Given the description of an element on the screen output the (x, y) to click on. 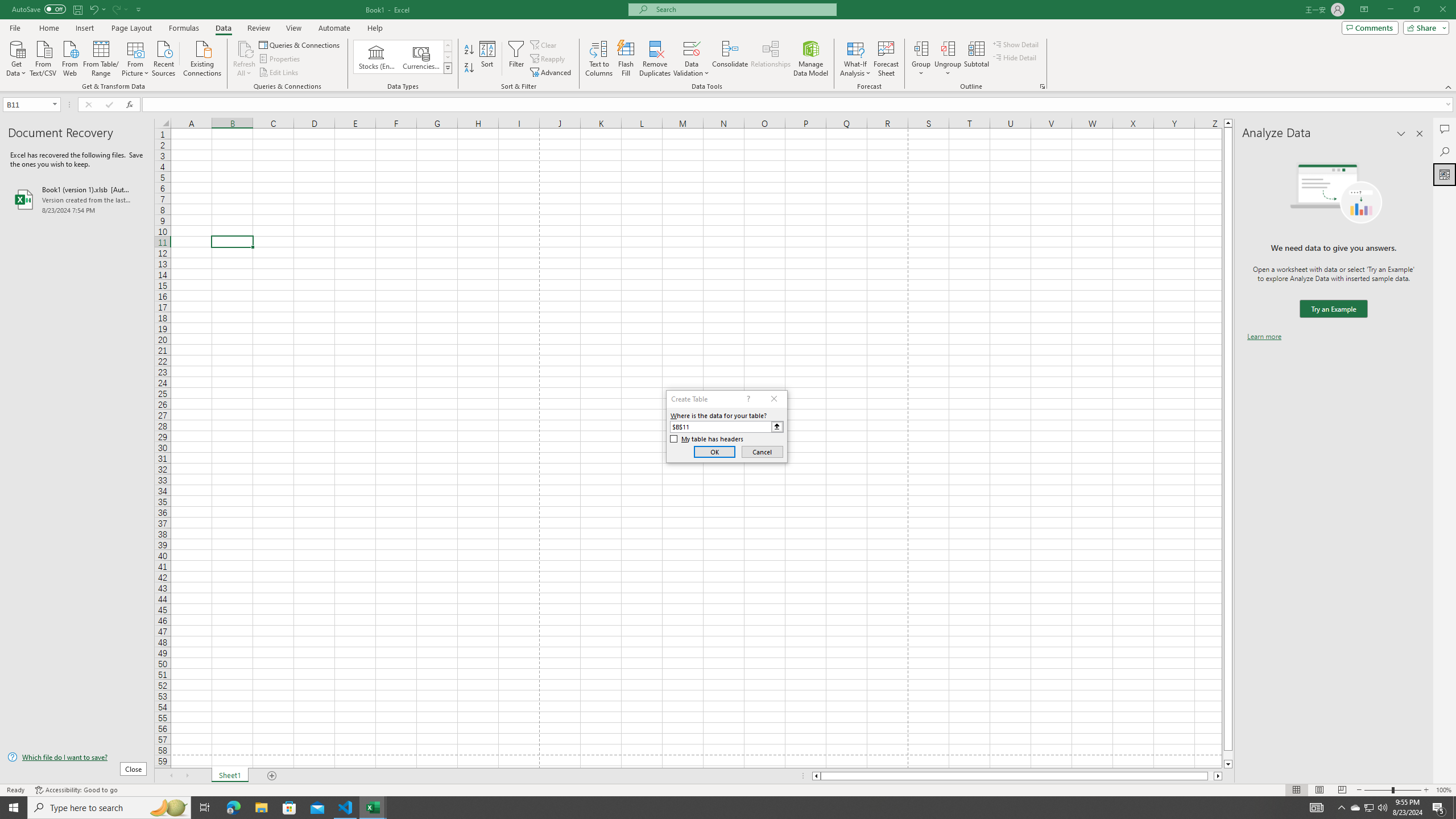
Queries & Connections (300, 44)
Collapse the Ribbon (1448, 86)
Analyze Data (1444, 173)
Insert (83, 28)
Name Box (30, 104)
Row Down (448, 56)
Comments (1444, 128)
Get Data (16, 57)
Comments (1369, 27)
Show Detail (1016, 44)
Quick Access Toolbar (77, 9)
Learn more (1264, 336)
Data Validation... (691, 58)
Remove Duplicates (654, 58)
Page down (1228, 755)
